Given the description of an element on the screen output the (x, y) to click on. 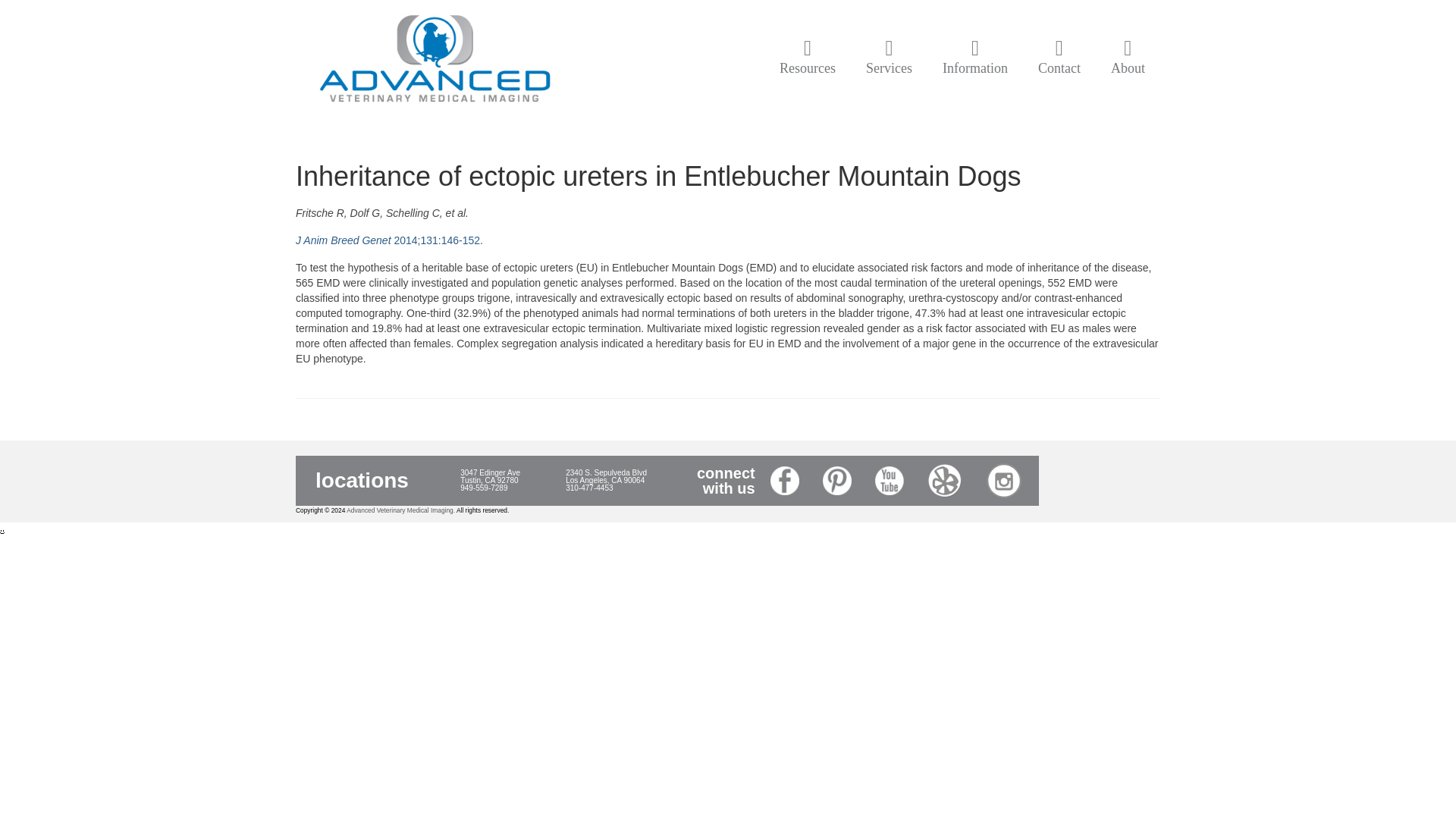
Information (975, 57)
About (1128, 57)
Advanced Veterinary Medical Imaging (434, 61)
Services (888, 57)
Resources (807, 57)
Contact (1059, 57)
About (1128, 57)
